Given the description of an element on the screen output the (x, y) to click on. 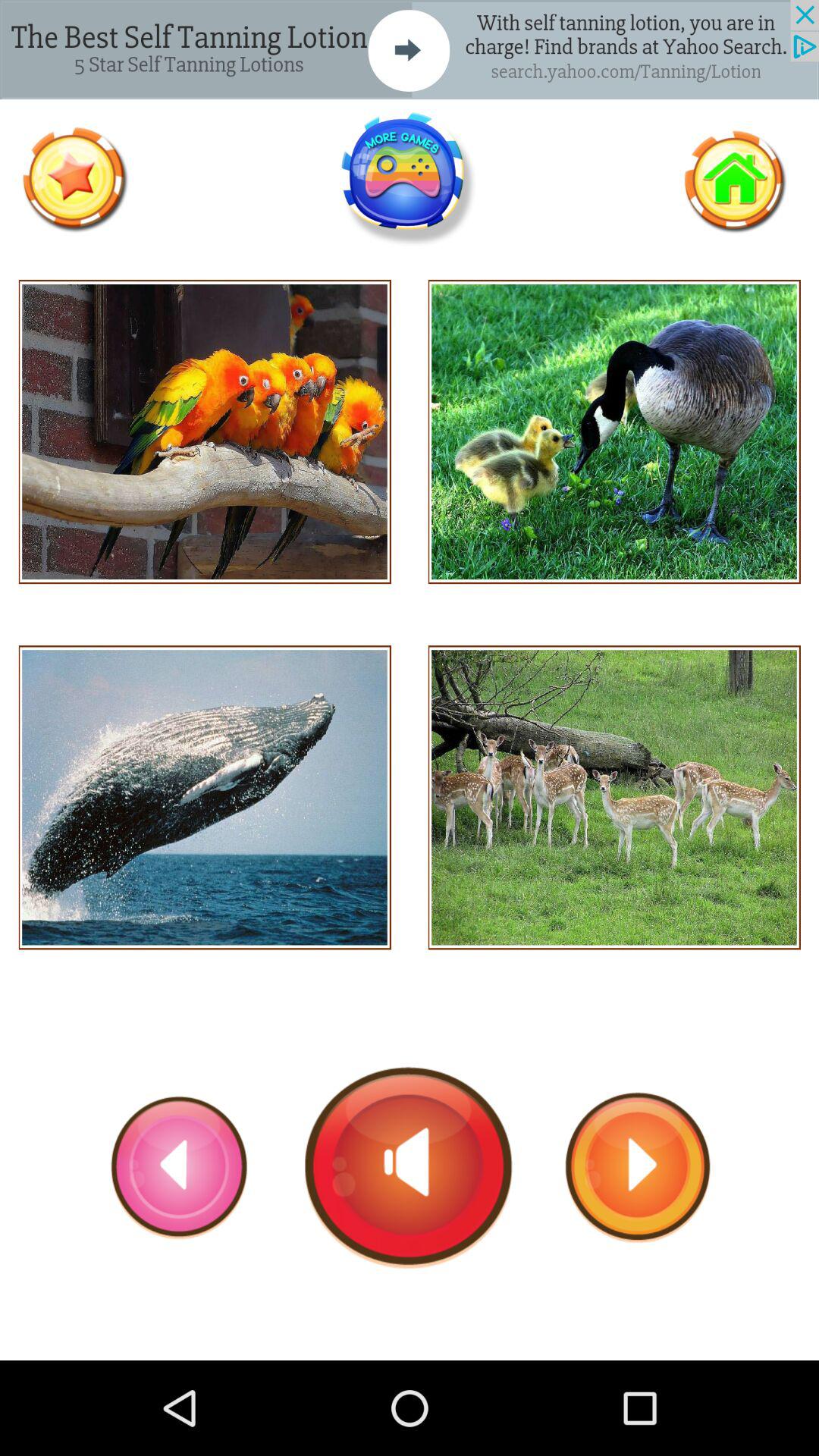
view picture (614, 797)
